Given the description of an element on the screen output the (x, y) to click on. 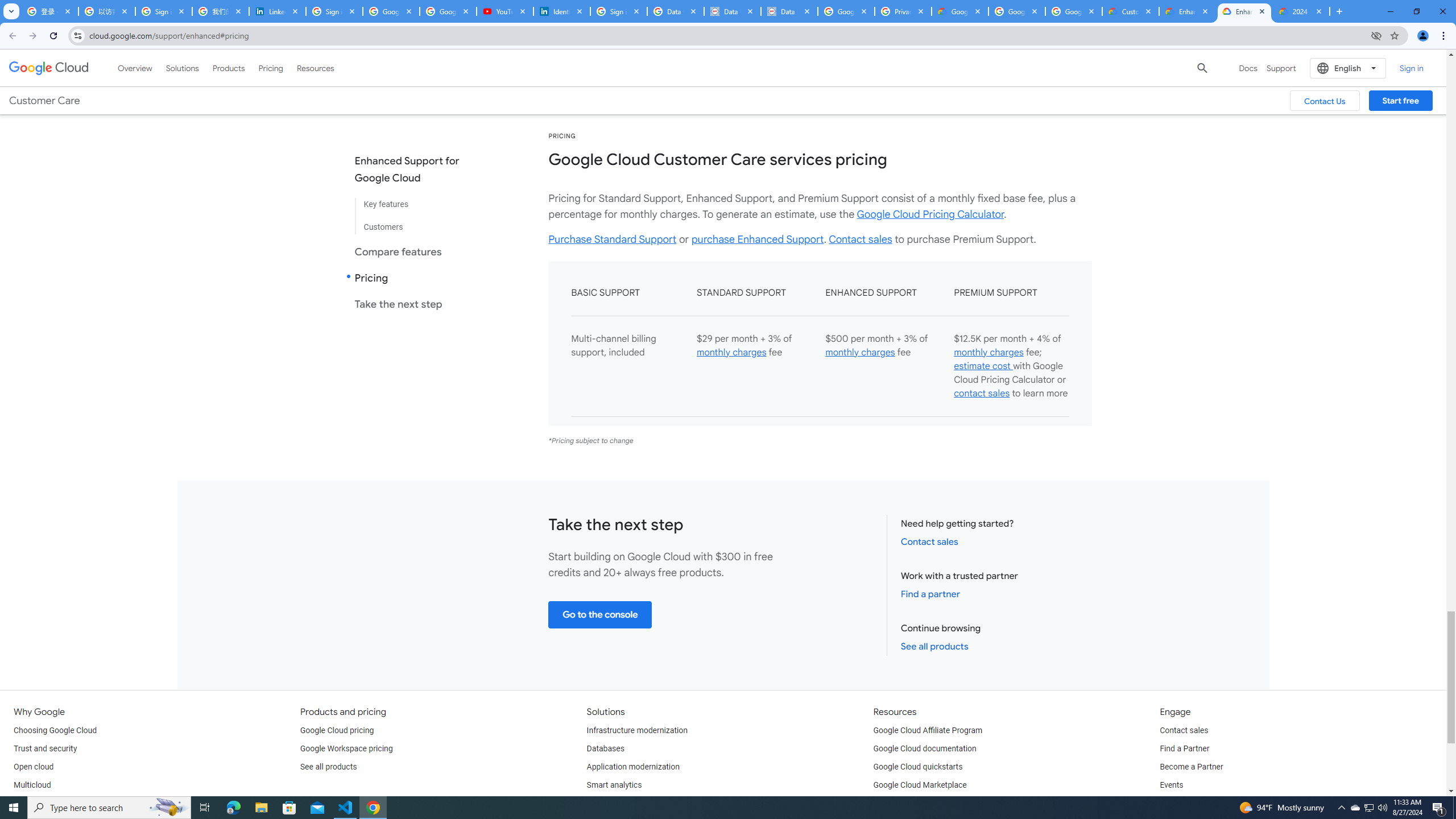
LinkedIn Privacy Policy (277, 11)
Google Cloud Marketplace (919, 784)
Become a Partner (1190, 766)
Sign in - Google Accounts (618, 11)
Multicloud (31, 784)
Artificial Intelligence (622, 802)
contact sales (981, 393)
purchase Enhanced Support (757, 238)
monthly charges (988, 352)
Pricing (270, 67)
